Given the description of an element on the screen output the (x, y) to click on. 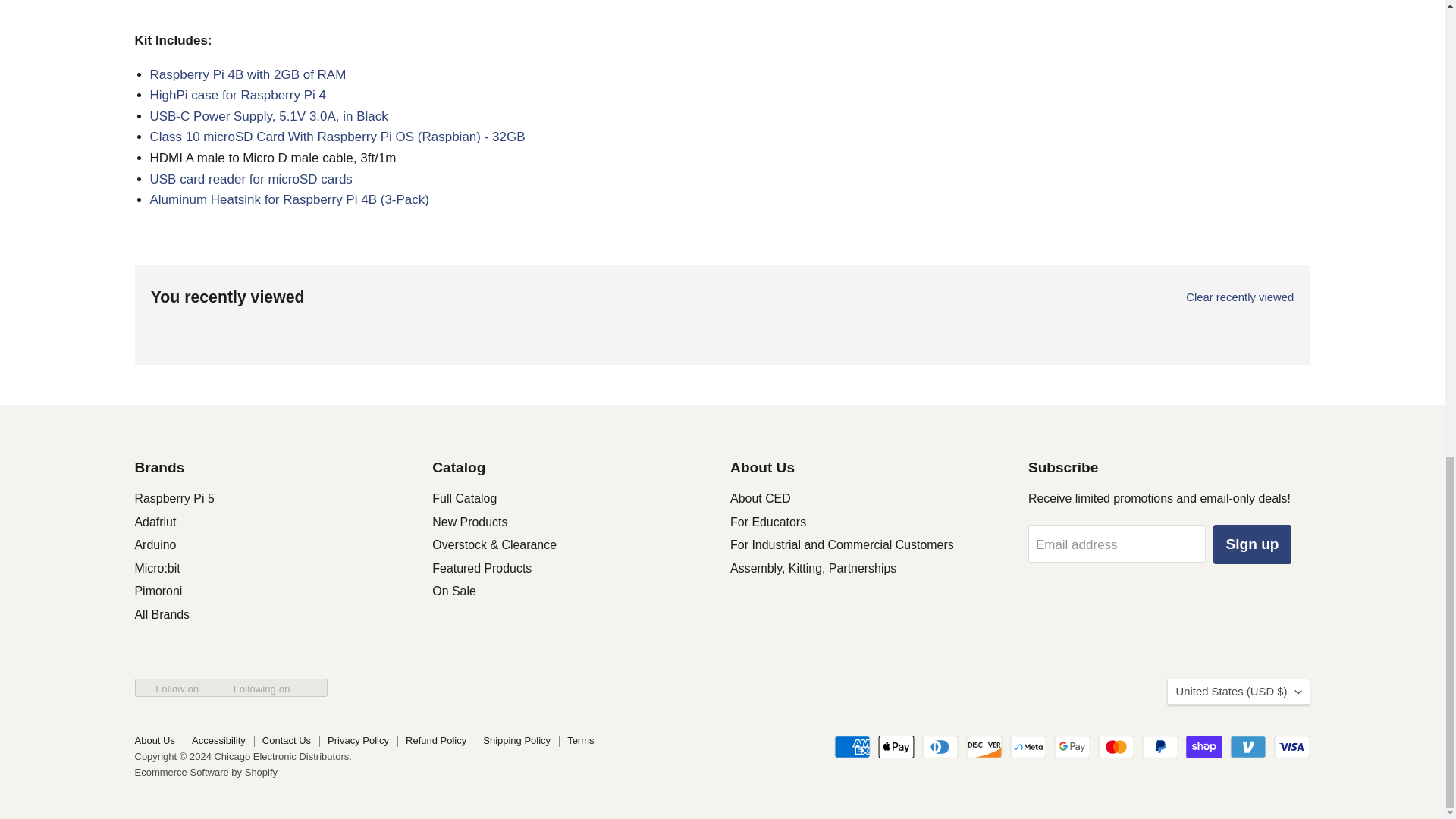
Diners Club (939, 746)
Apple Pay (895, 746)
American Express (852, 746)
